Given the description of an element on the screen output the (x, y) to click on. 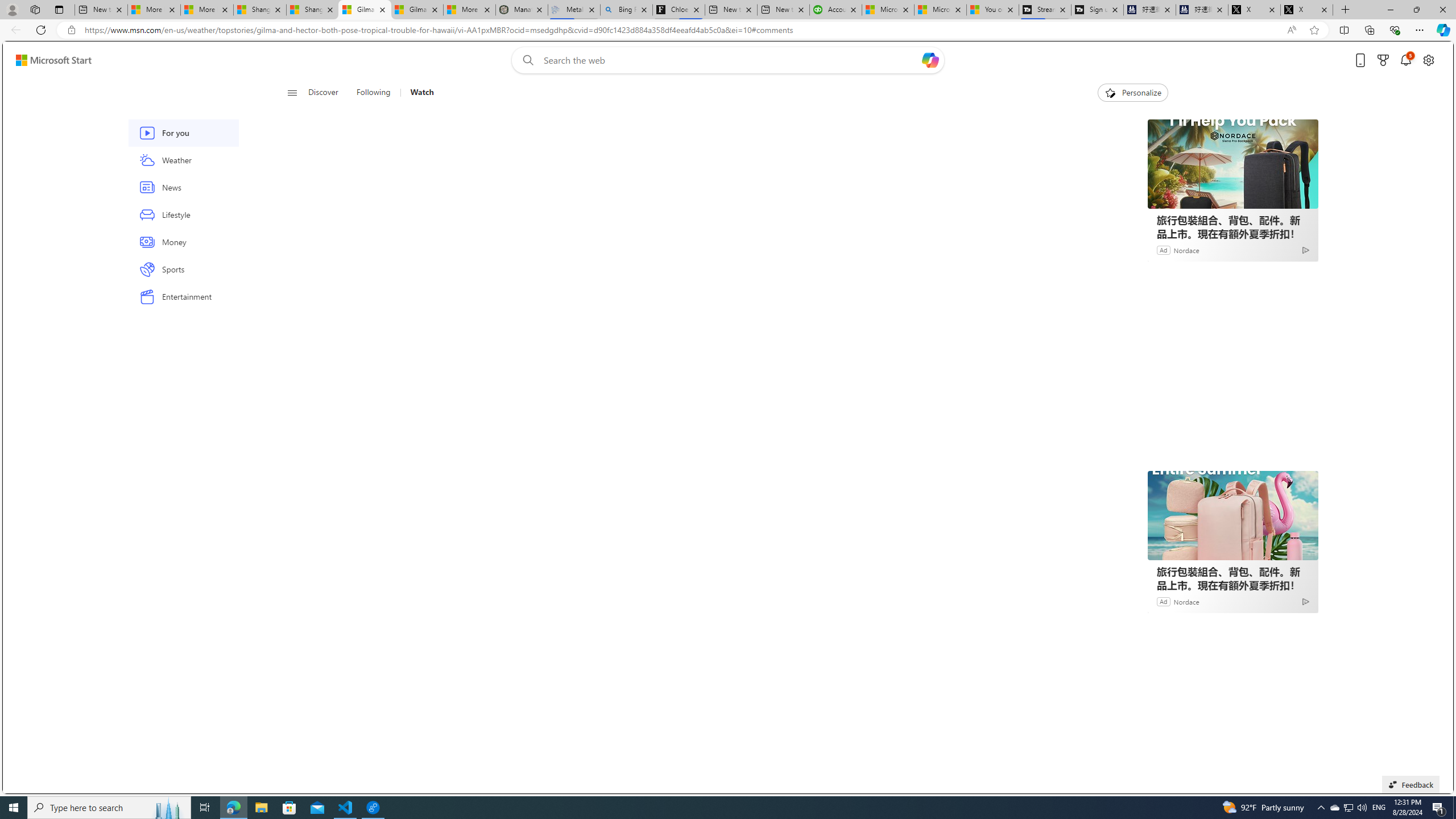
Class: button-glyph (292, 92)
Chloe Sorvino (678, 9)
